Given the description of an element on the screen output the (x, y) to click on. 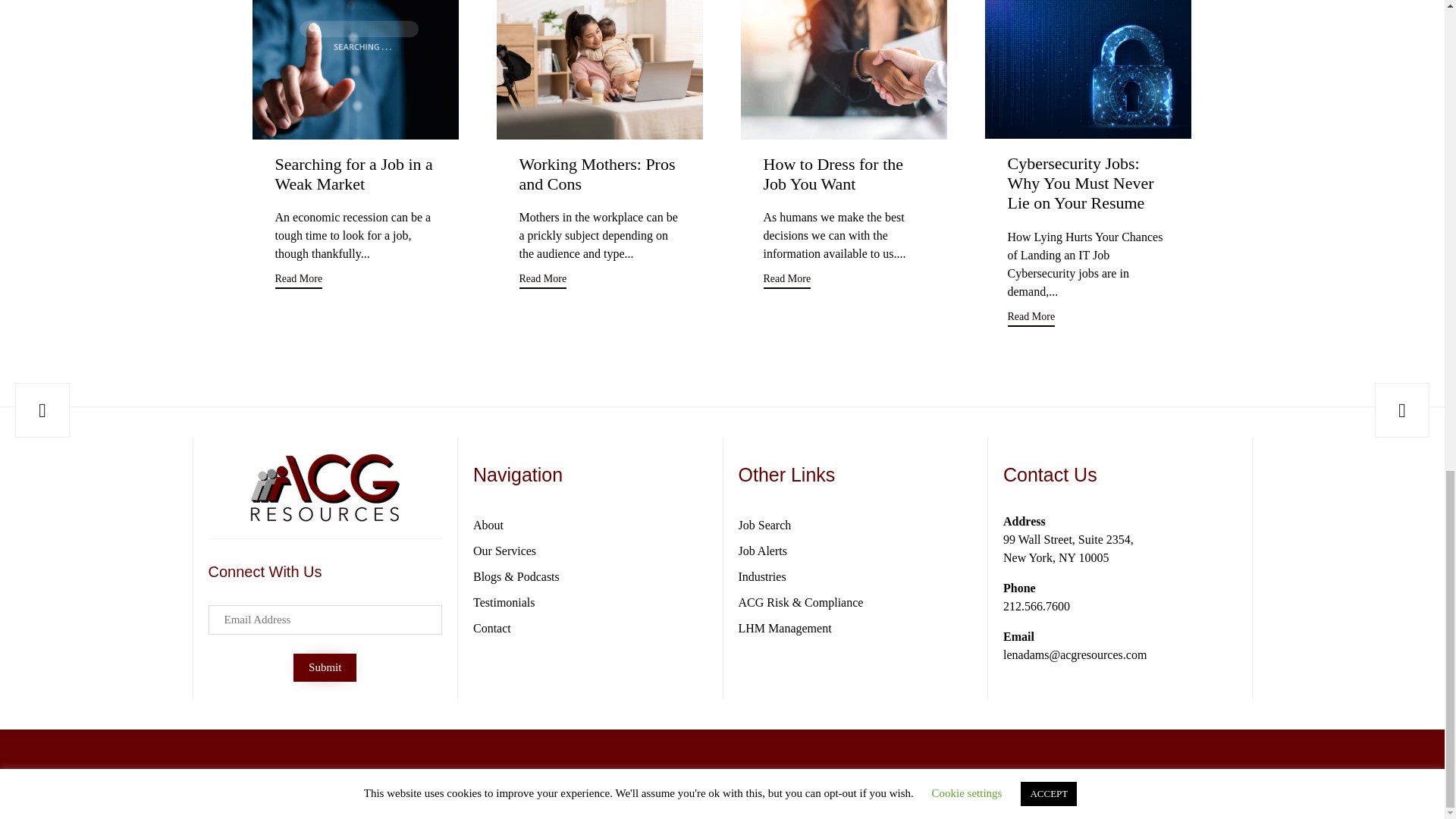
Cybersecurity Jobs: Why You Must Never Lie on Your Resume (1080, 182)
Cybersecurity Jobs: Why You Must Never Lie on Your Resume (1087, 69)
Searching for a Job in a Weak Market (353, 174)
Searching for a Job in a Weak Market (353, 174)
Searching for a Job in a Weak Market (354, 69)
How to Dress for the Job You Want (842, 69)
How to Dress for the Job You Want (832, 174)
Working Mothers: Pros and Cons (596, 174)
Working Mothers: Pros and Cons (598, 69)
